Given the description of an element on the screen output the (x, y) to click on. 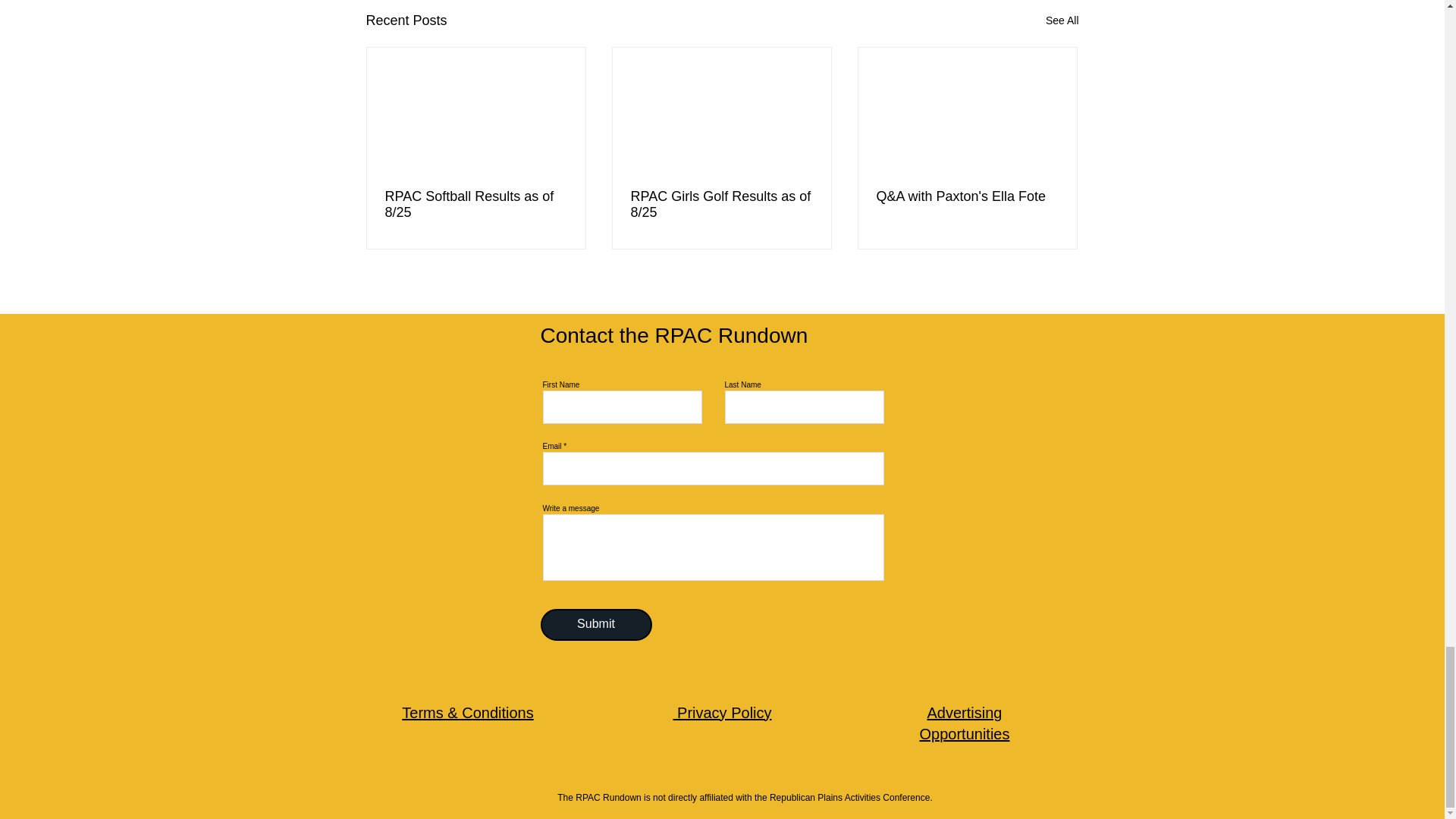
Submit (595, 624)
 Privacy Policy (721, 712)
See All (1061, 20)
